Given the description of an element on the screen output the (x, y) to click on. 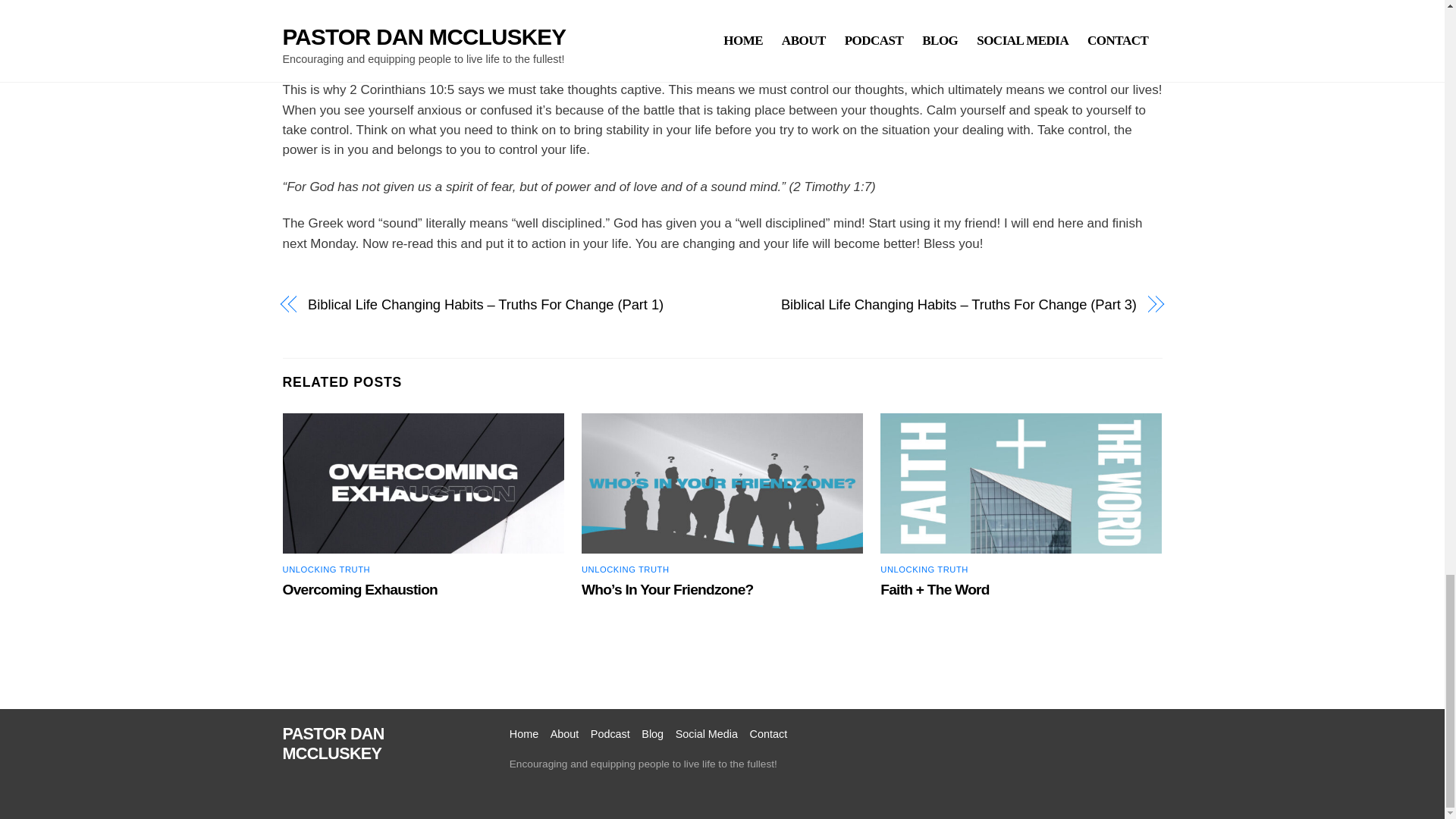
Unlocking Truth - Who's In Your Friendzone (721, 483)
PASTOR DAN MCCLUSKEY (333, 742)
UNLOCKING TRUTH (624, 569)
About (564, 734)
Home (523, 734)
Pastor Dan McCluskey (333, 742)
UNLOCKING TRUTH (924, 569)
UNLOCKING TRUTH (325, 569)
Unlocking Truth - Faith Plus The Word (1020, 483)
Contact (768, 734)
Unlocking Truth - Overcoming Exhaustion (422, 483)
Podcast (610, 734)
Social Media (706, 734)
Overcoming Exhaustion (360, 589)
